Given the description of an element on the screen output the (x, y) to click on. 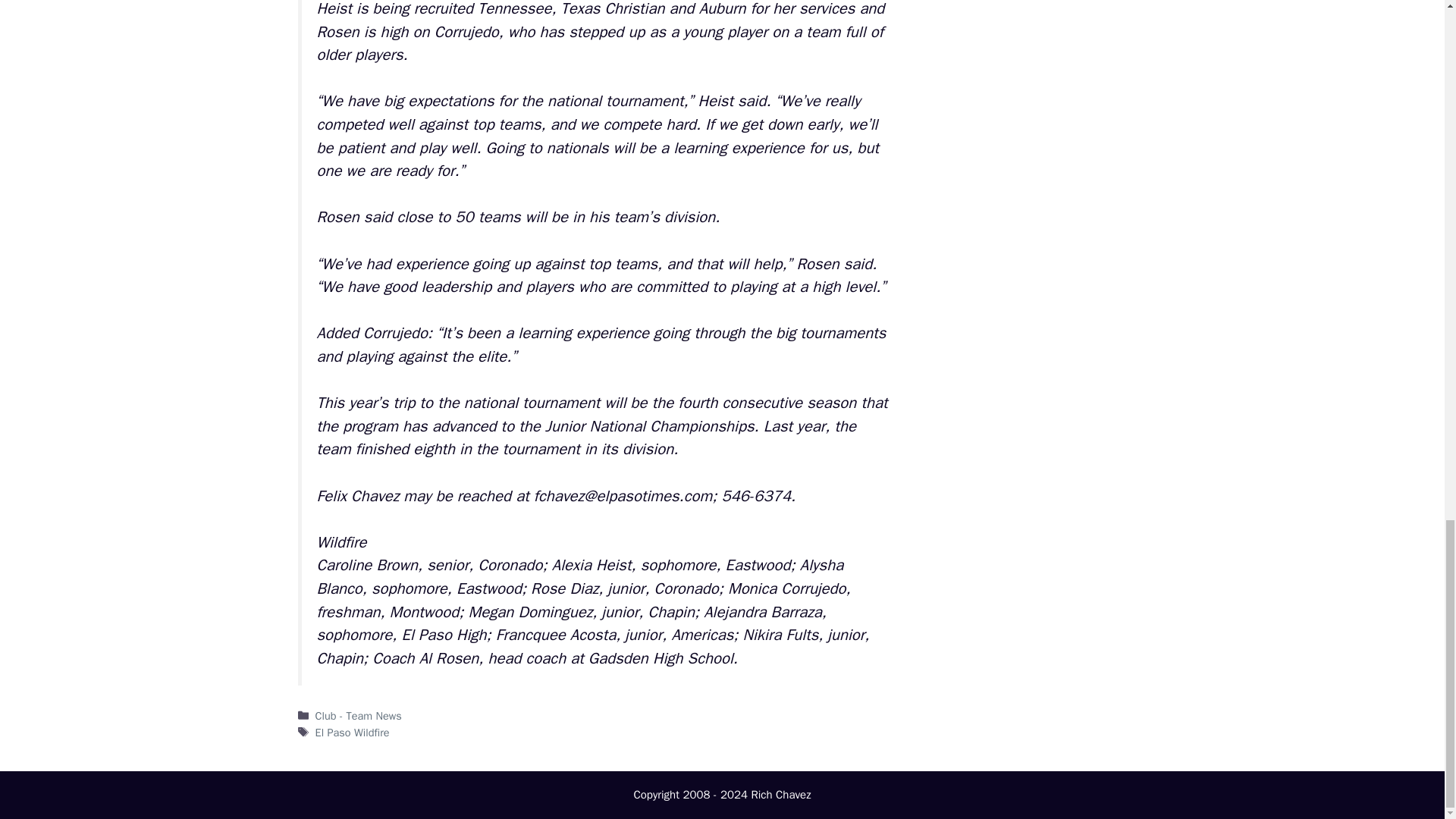
El Paso Wildfire (352, 732)
Club - Team News (358, 715)
Scroll back to top (1406, 87)
